Given the description of an element on the screen output the (x, y) to click on. 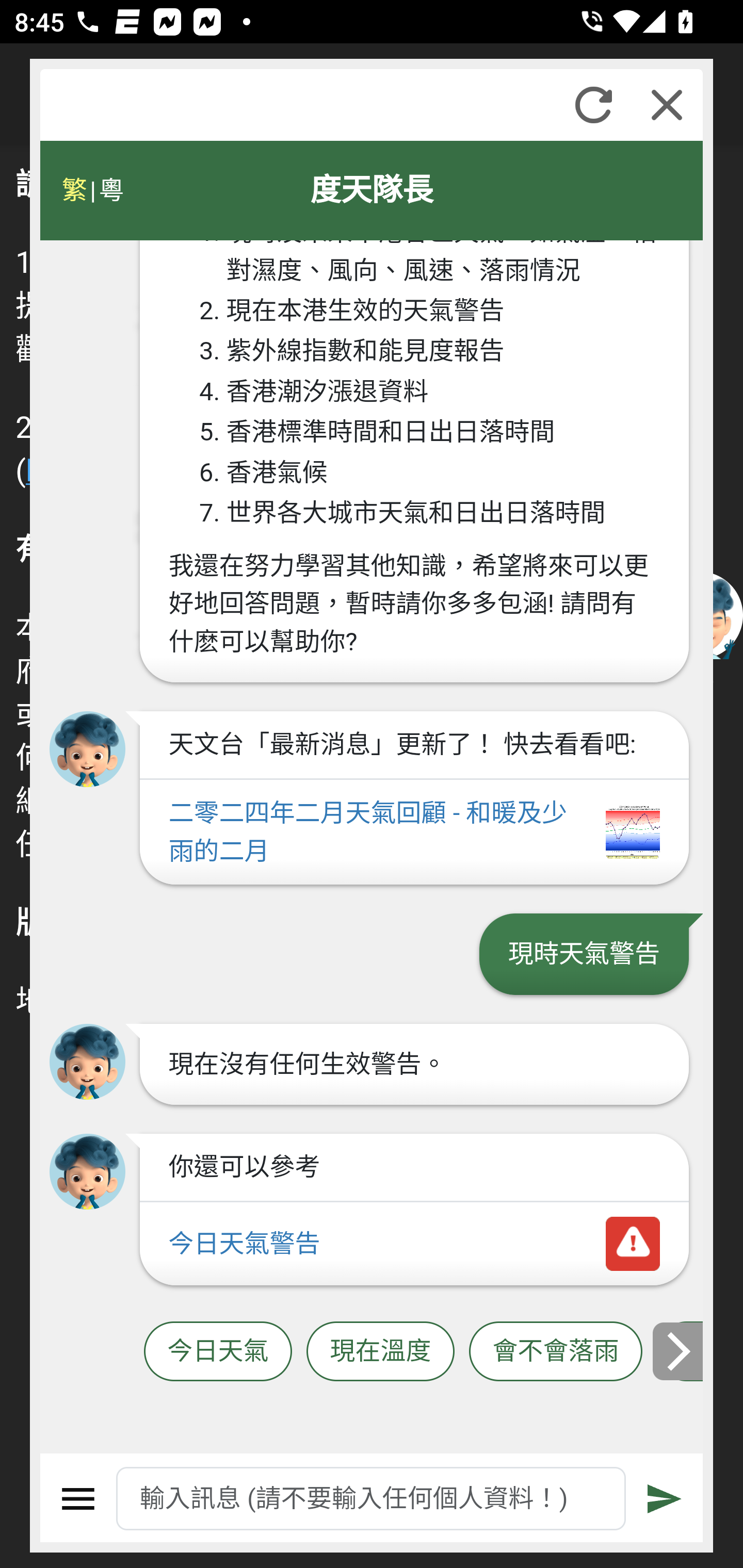
重新整理 (593, 104)
關閉 (666, 104)
繁 (73, 190)
粵 (110, 190)
二零二四年二月天氣回顧 - 和暖及少雨的二月 (413, 832)
今日天氣警告 (413, 1244)
今日天氣 (217, 1351)
現在溫度 (380, 1351)
會不會落雨 (555, 1351)
下一張 (678, 1351)
選單 (78, 1498)
遞交 (665, 1498)
